Given the description of an element on the screen output the (x, y) to click on. 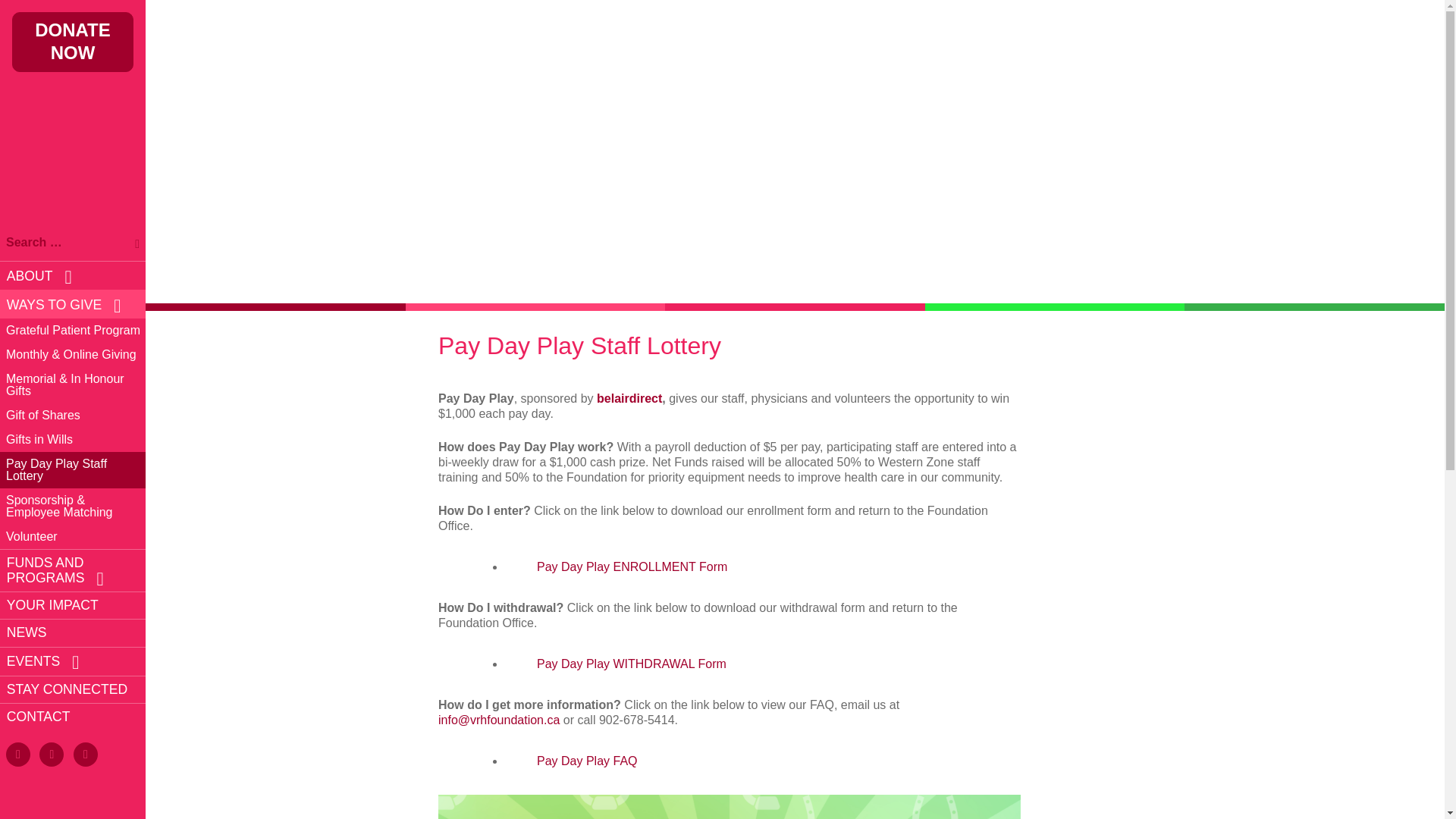
ABOUT (76, 275)
YOUR IMPACT (76, 605)
EVENTS (76, 661)
CONTACT (76, 716)
Grateful Patient Program (76, 330)
DONATE NOW (72, 42)
STAY CONNECTED (76, 688)
Valley Regional Hospital Foundation (73, 128)
Gifts in Wills (76, 439)
Search (131, 239)
